Given the description of an element on the screen output the (x, y) to click on. 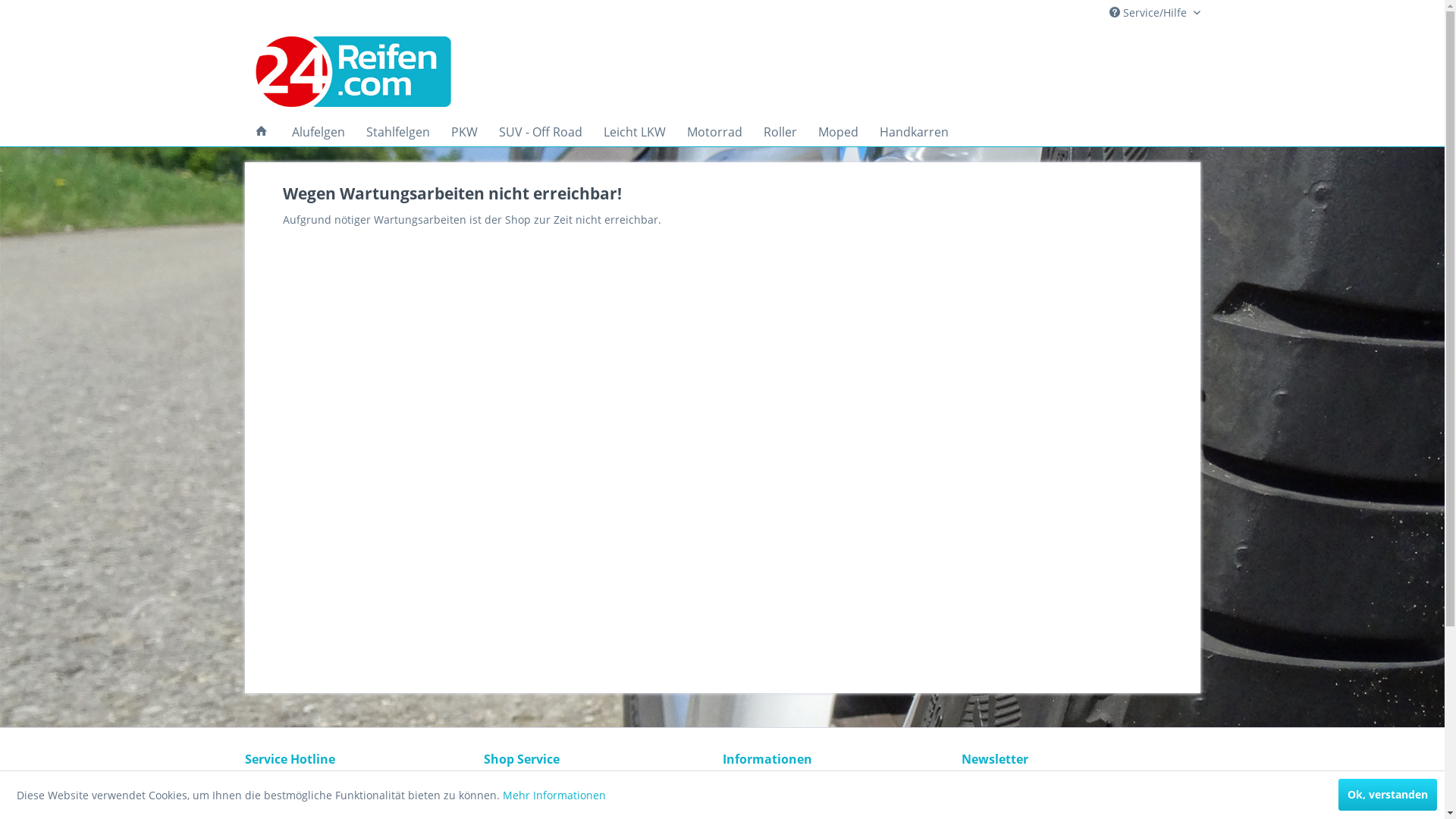
Motorrad Element type: text (714, 131)
Ok, verstanden Element type: text (1387, 794)
SUV - Off Road Element type: text (540, 131)
Handkarren Element type: text (914, 131)
Home Element type: hover (260, 131)
Moped Element type: text (837, 131)
Newsletter Element type: text (837, 785)
Stahlfelgen Element type: text (396, 131)
Roller Element type: text (779, 131)
Mehr Informationen Element type: text (553, 794)
PKW Element type: text (463, 131)
Alufelgen Element type: text (317, 131)
Montageservice Element type: text (599, 803)
24Reifen.com Element type: hover (390, 71)
Leicht LKW Element type: text (634, 131)
